Given the description of an element on the screen output the (x, y) to click on. 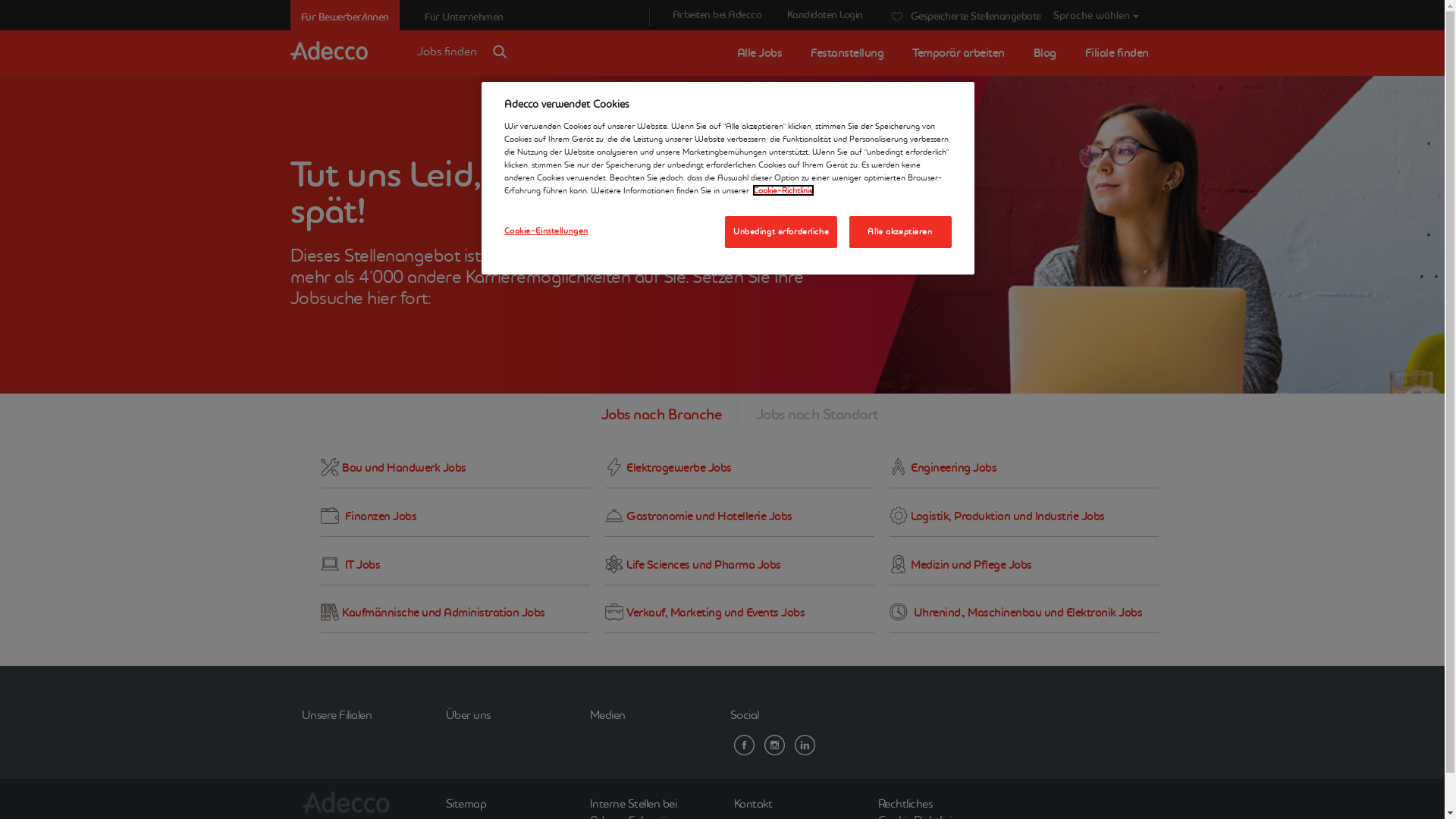
Engineering Jobs Element type: text (1022, 468)
Jobs finden Element type: text (465, 42)
Finanzen Jobs Element type: text (454, 516)
Elektrogewerbe Jobs Element type: text (739, 468)
Festanstellung Element type: text (846, 52)
Gastronomie und Hotellerie Jobs Element type: text (739, 516)
Uhrenind., Maschinenbau und Elektronik Jobs Element type: text (1022, 613)
Kandidaten Login Element type: text (824, 14)
Unbedingt erforderliche Element type: text (780, 231)
Sitemap Element type: text (478, 802)
Rechtliches Element type: text (917, 802)
Verkauf, Marketing und Events Jobs Element type: text (739, 613)
Logistik, Produktion und Industrie Jobs Element type: text (1022, 516)
Alle Jobs Element type: text (759, 52)
Medizin und Pflege Jobs Element type: text (1022, 565)
Blog Element type: text (1043, 52)
IT Jobs Element type: text (454, 565)
Jobs nach Branche Element type: text (668, 413)
Filiale finden Element type: text (1116, 52)
Cookie-Richtlinie Element type: text (782, 190)
Alle akzeptieren Element type: text (900, 231)
Unsere Filialen Element type: text (330, 708)
Cookie-Einstellungen Element type: text (554, 231)
Bau und Handwerk Jobs Element type: text (454, 468)
Life Sciences und Pharma Jobs Element type: text (739, 565)
Medien Element type: text (600, 708)
Jobs nach Standort Element type: text (808, 413)
Arbeiten bei Adecco Element type: text (716, 14)
Kontakt Element type: text (765, 802)
Gespeicherte Stellenangebote Element type: text (951, 12)
